Given the description of an element on the screen output the (x, y) to click on. 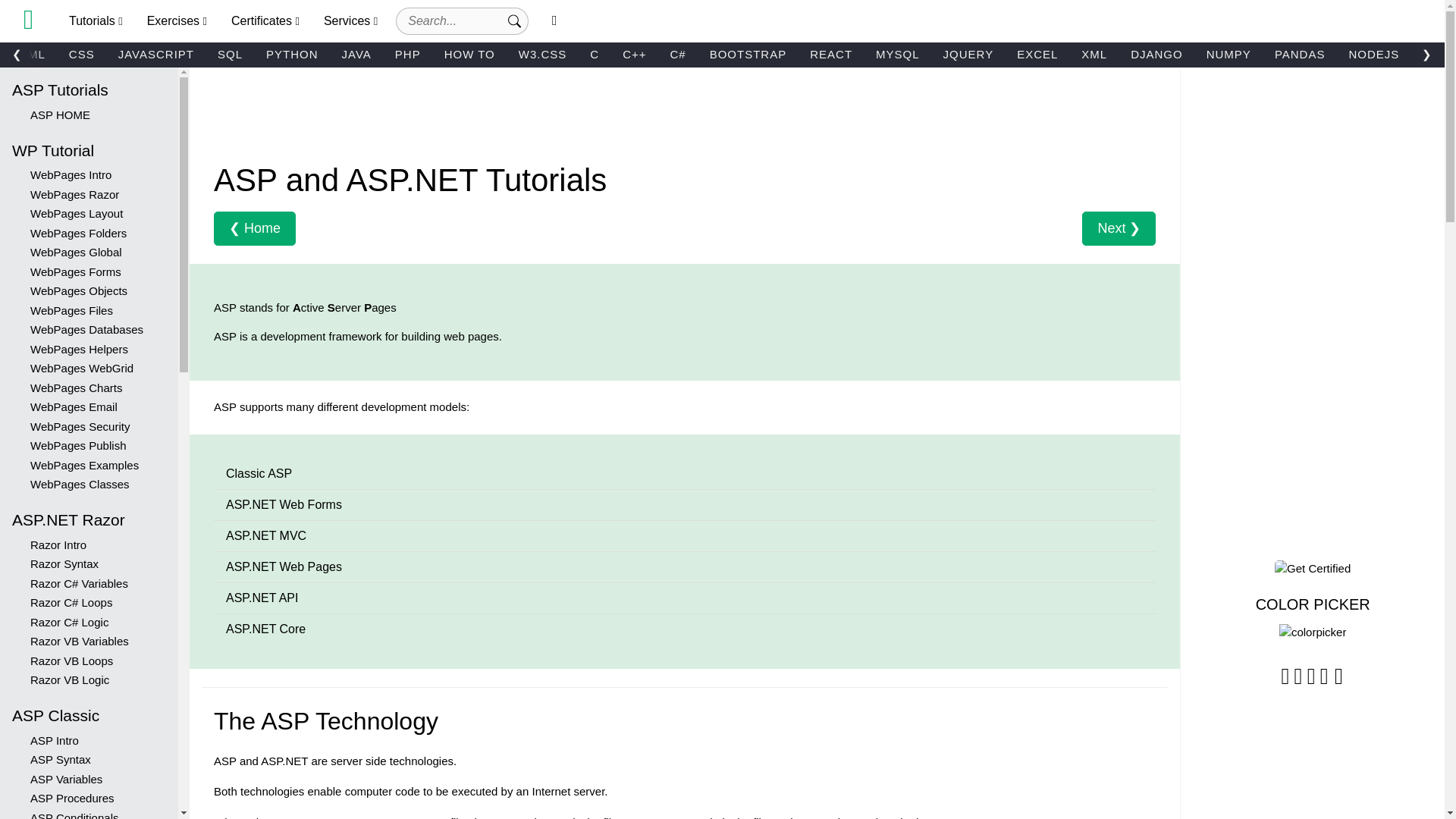
Exercises and Quizzes (177, 21)
Tutorials and References (95, 21)
Certificates (265, 21)
Tutorials (95, 21)
Services (350, 21)
Our Services (350, 21)
Home (28, 20)
Exercises (177, 21)
Certificates (265, 21)
